Given the description of an element on the screen output the (x, y) to click on. 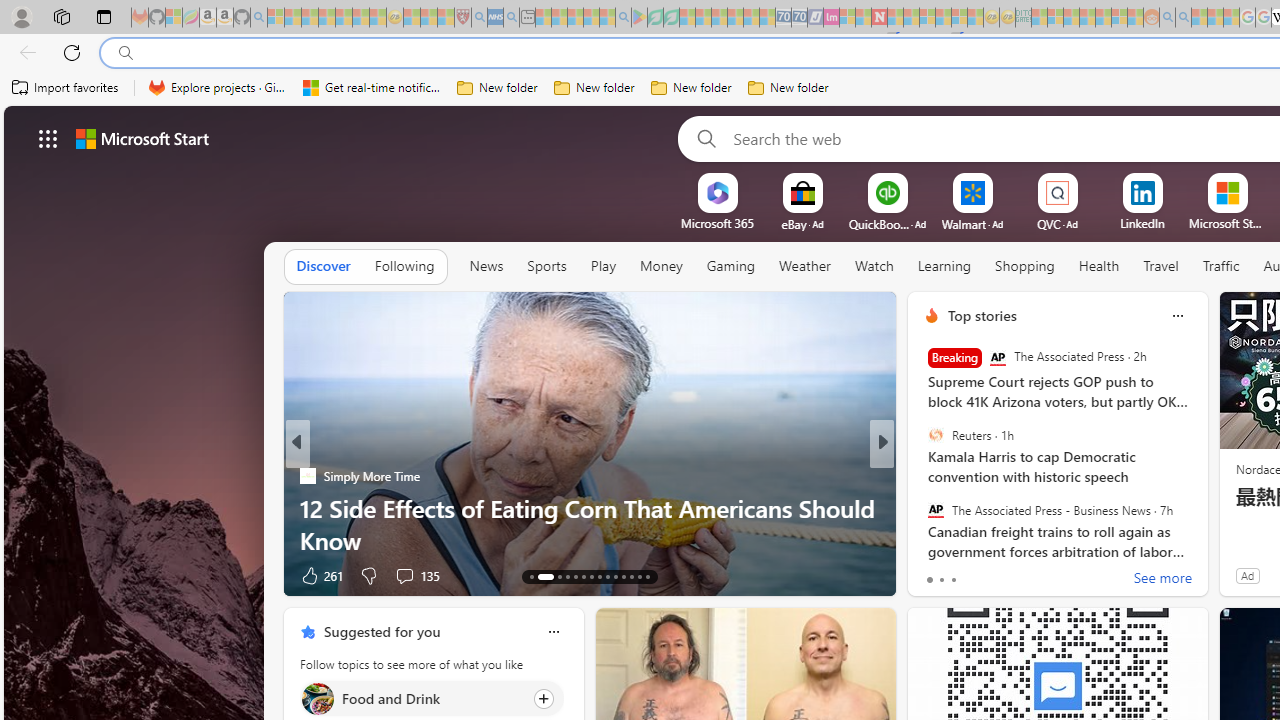
ZDNet (923, 475)
AutomationID: tab-25 (638, 576)
Class: icon-img (553, 632)
The Associated Press - Business News (935, 509)
Top stories (982, 315)
The Associated Press (997, 358)
